Given the description of an element on the screen output the (x, y) to click on. 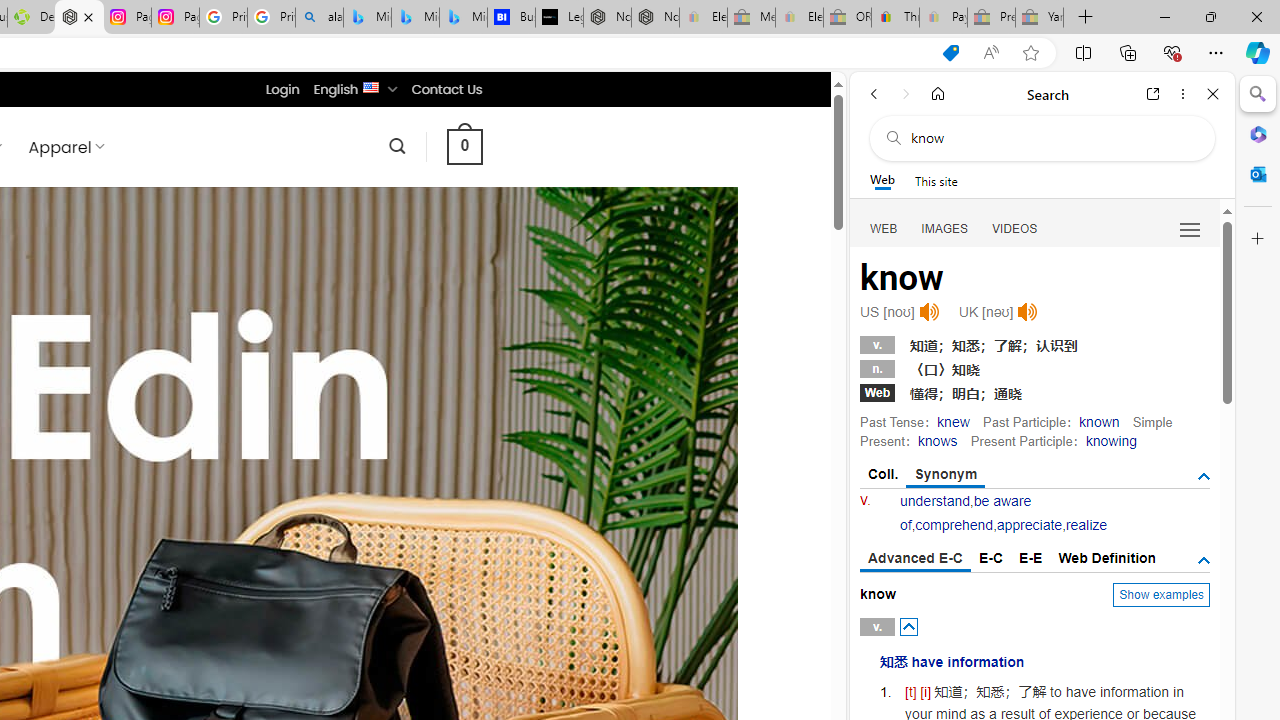
Coll. (883, 473)
Press Room - eBay Inc. - Sleeping (991, 17)
AutomationID: tgsb (1203, 476)
Contact Us (446, 89)
